Given the description of an element on the screen output the (x, y) to click on. 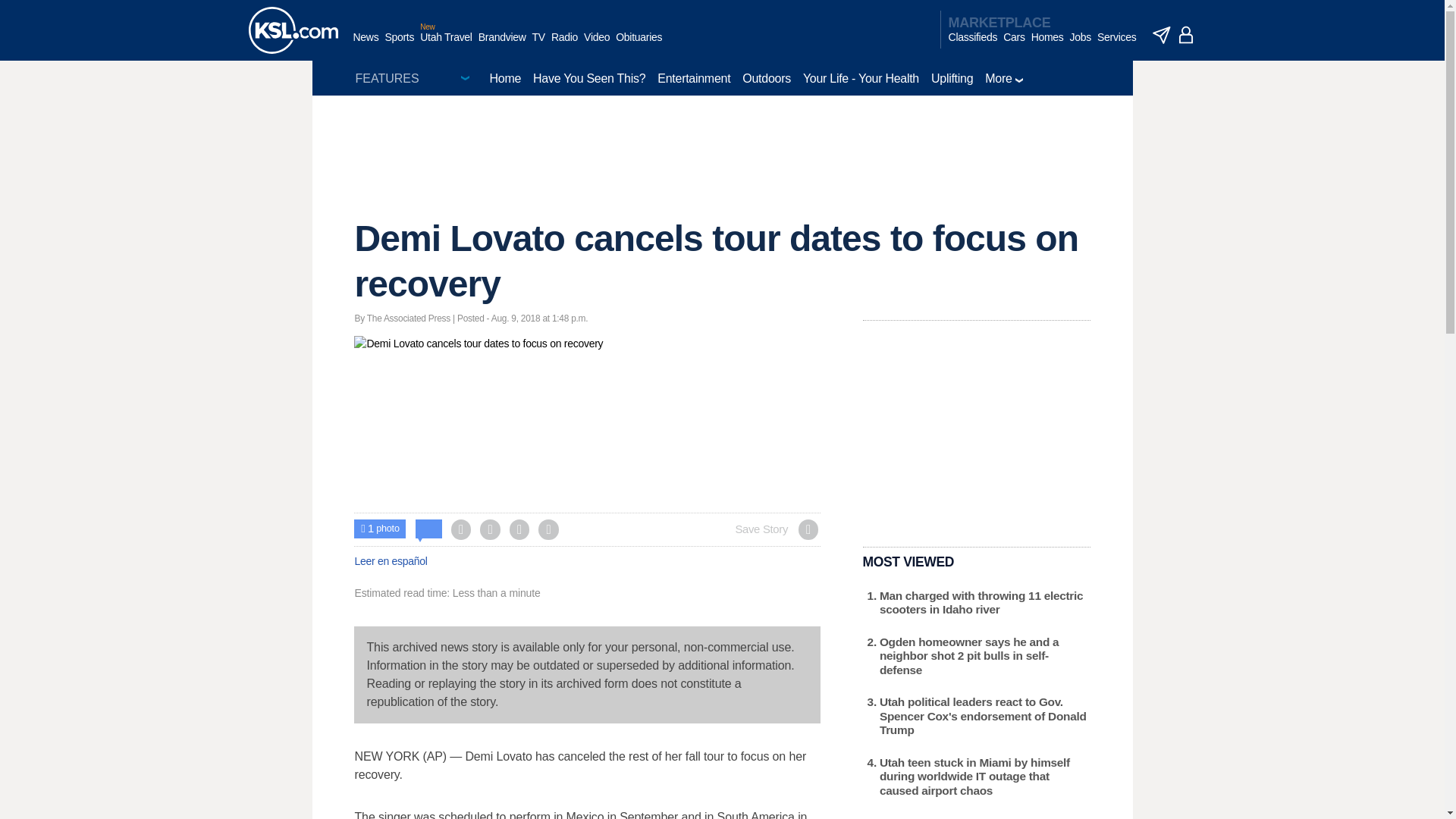
account - logged out (1185, 34)
Utah Travel (445, 45)
Sports (398, 45)
Brandview (502, 45)
KSL homepage (292, 30)
KSL homepage (292, 29)
